Given the description of an element on the screen output the (x, y) to click on. 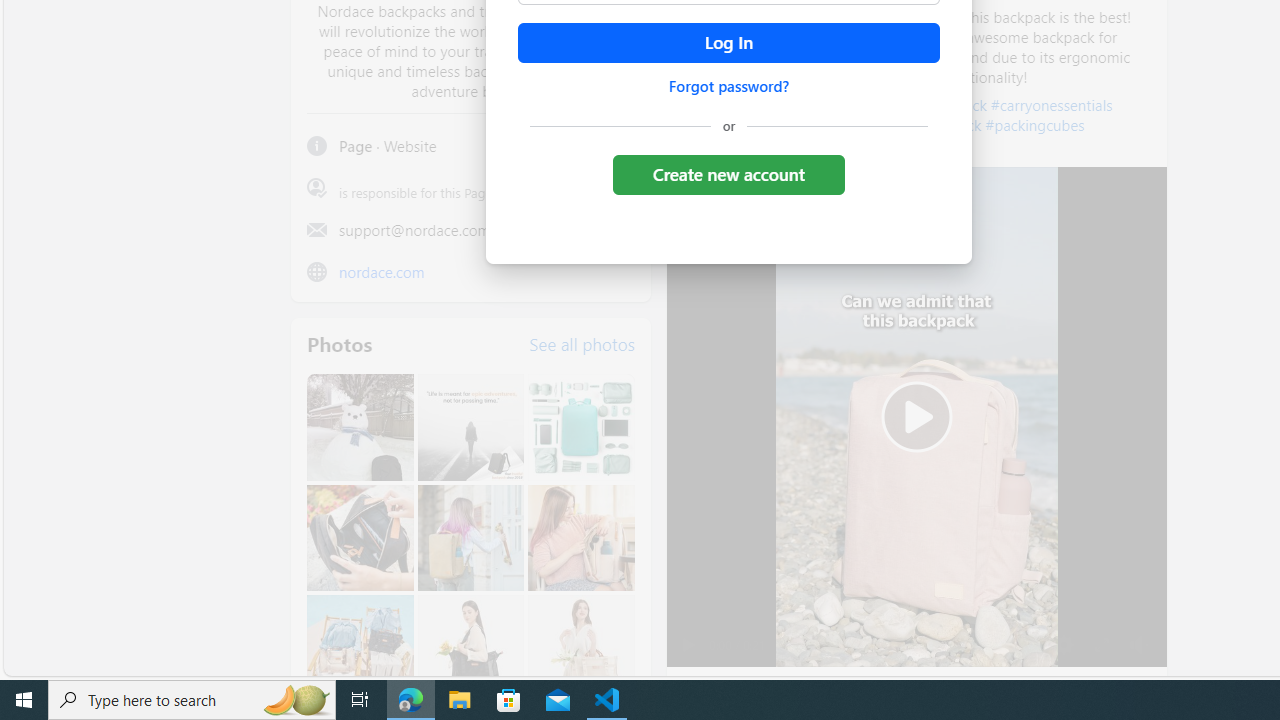
Accessible login button (728, 43)
Forgot password? (728, 85)
Create new account (728, 174)
